Given the description of an element on the screen output the (x, y) to click on. 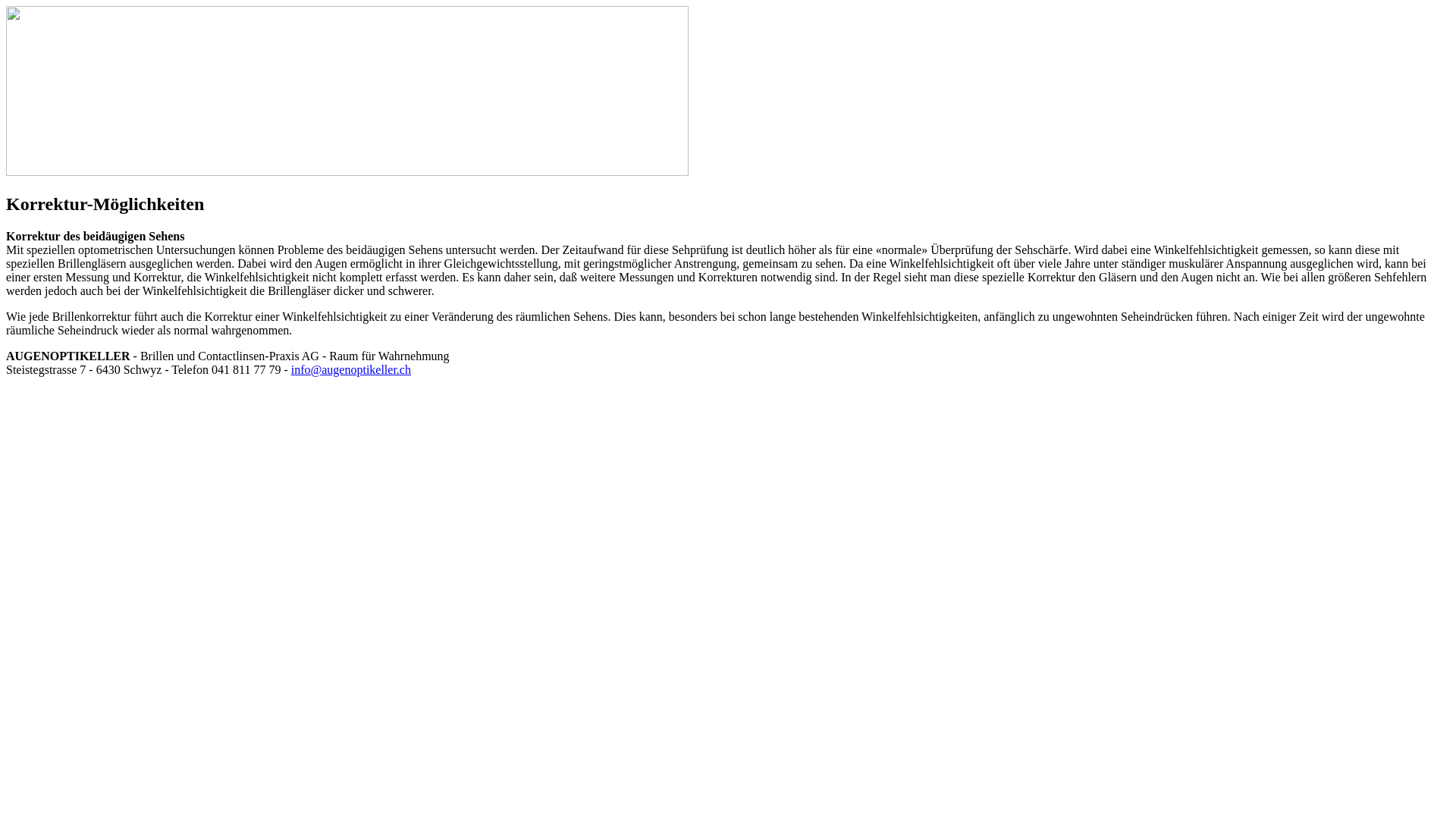
info@augenoptikeller.ch Element type: text (351, 369)
Home Element type: hover (347, 171)
